Given the description of an element on the screen output the (x, y) to click on. 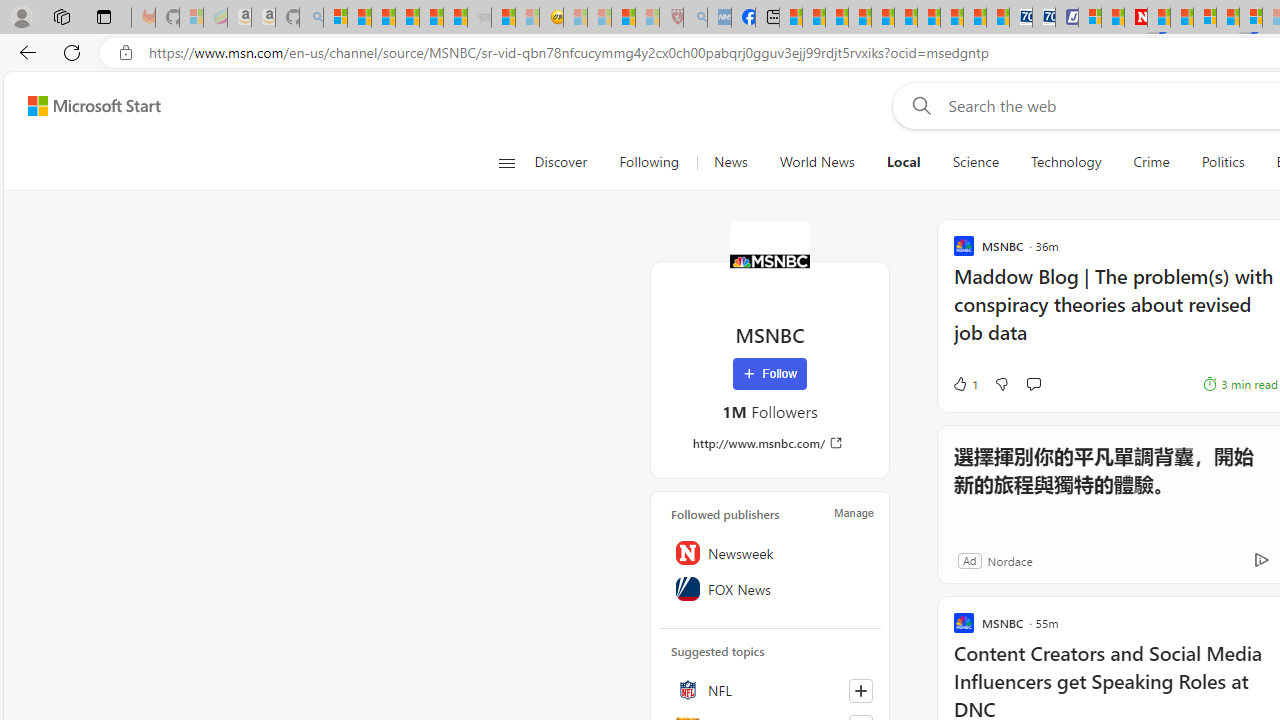
12 Popular Science Lies that Must be Corrected - Sleeping (647, 17)
1 Like (964, 384)
FOX News (770, 588)
